Given the description of an element on the screen output the (x, y) to click on. 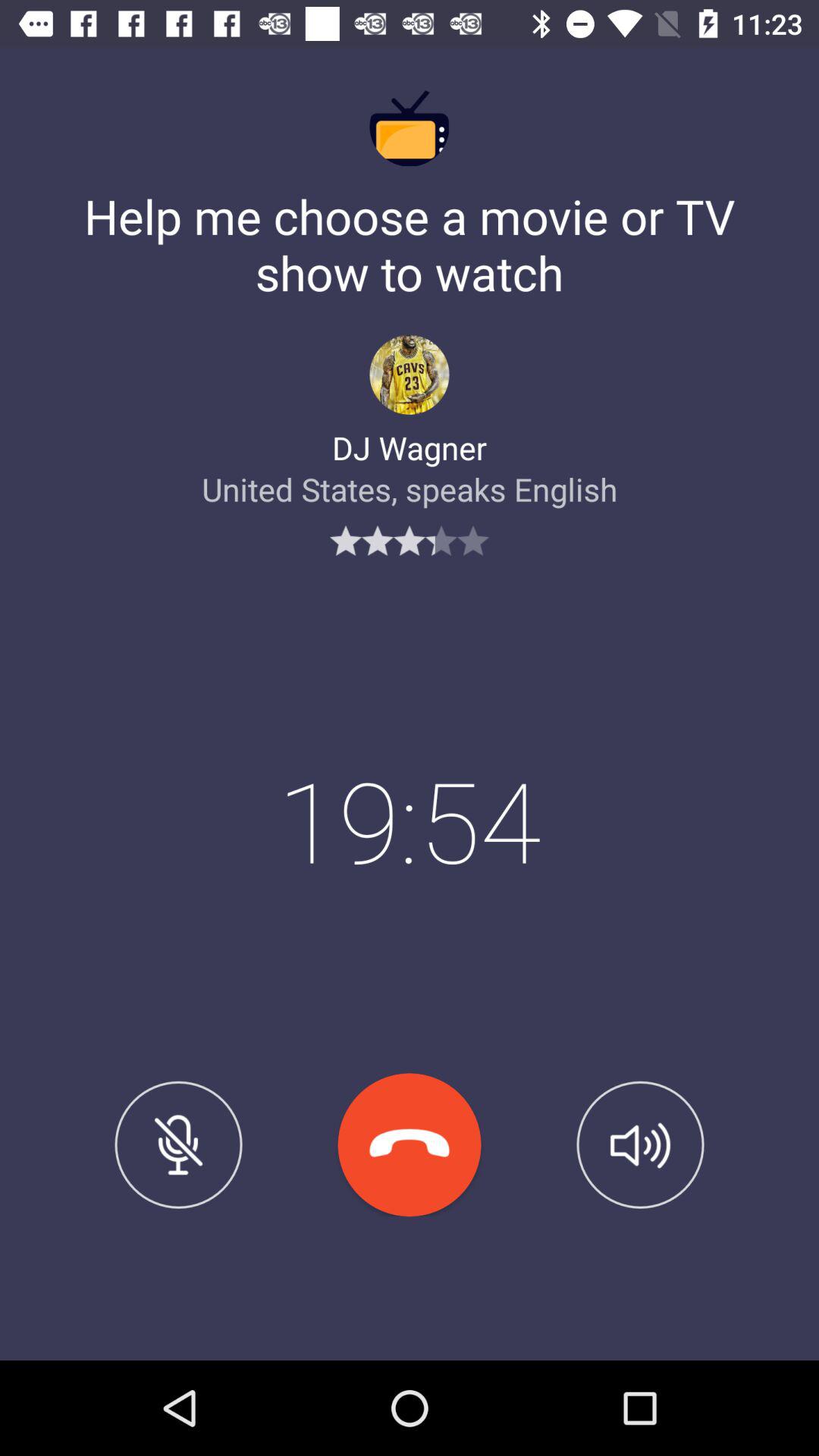
mute option (178, 1144)
